Given the description of an element on the screen output the (x, y) to click on. 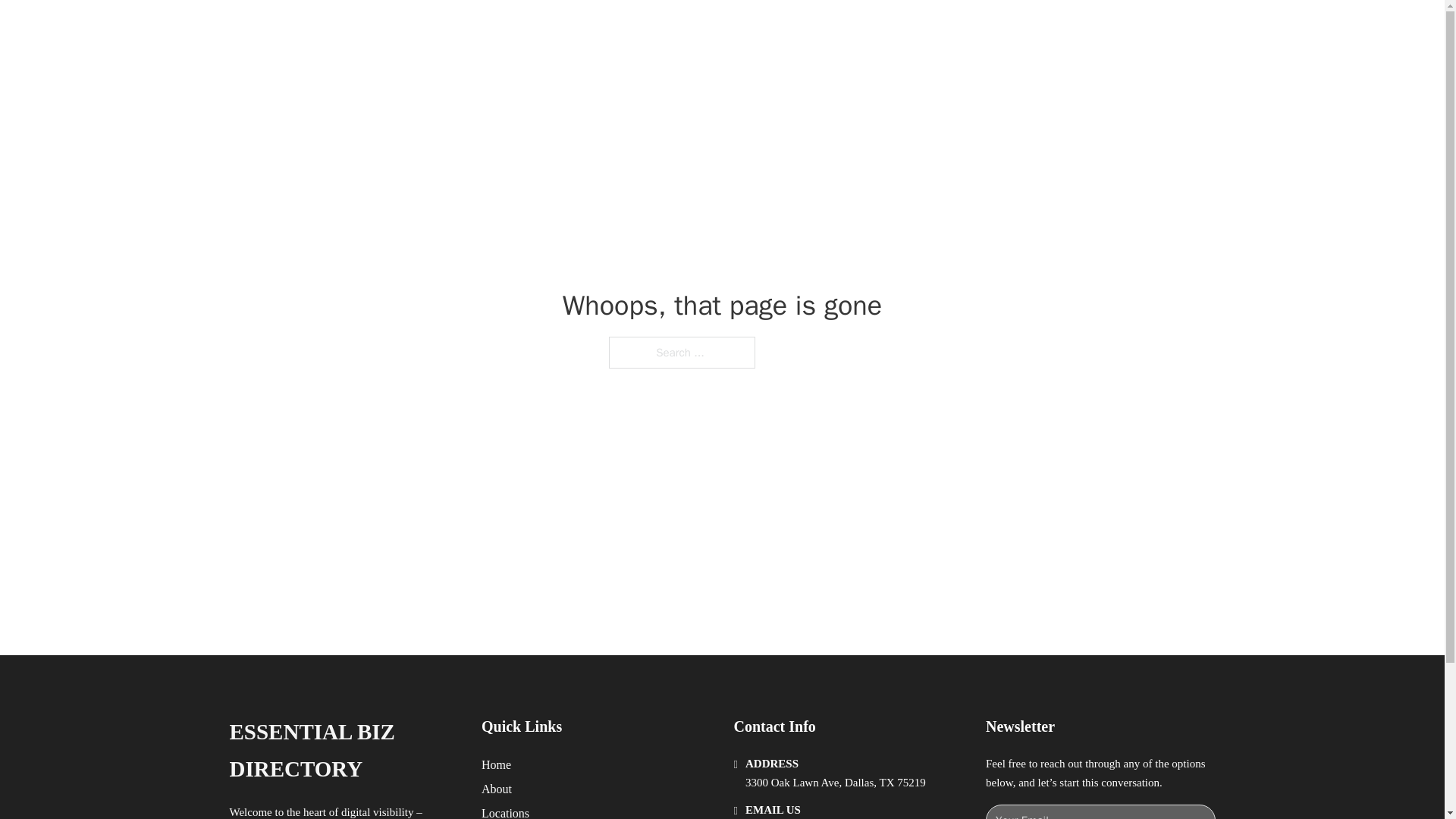
About (496, 788)
ESSENTIAL BIZ DIRECTORY (343, 750)
Home (496, 764)
LOCATIONS (990, 29)
HOME (919, 29)
Locations (505, 811)
